Given the description of an element on the screen output the (x, y) to click on. 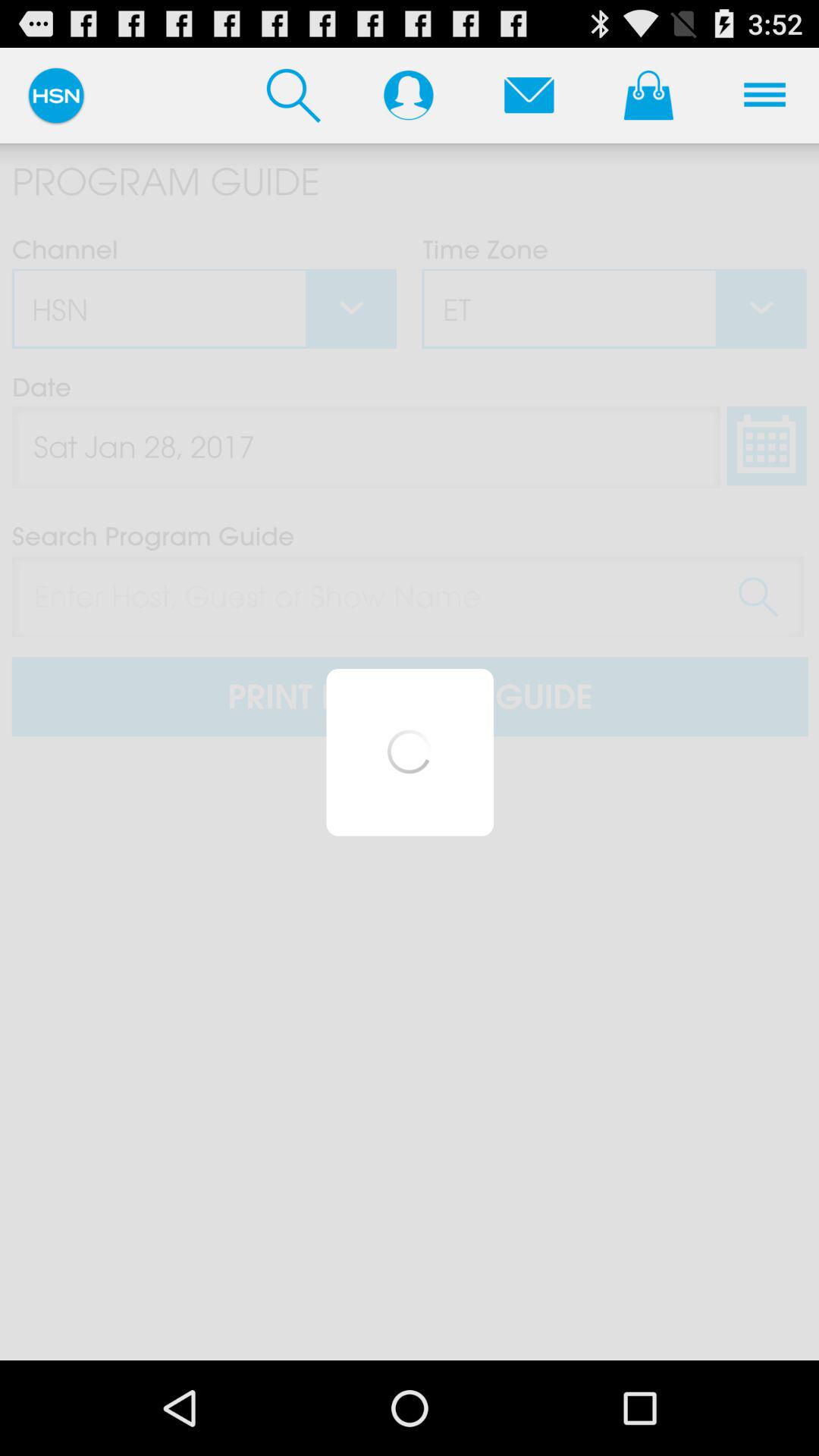
shopping cart button (648, 95)
